Given the description of an element on the screen output the (x, y) to click on. 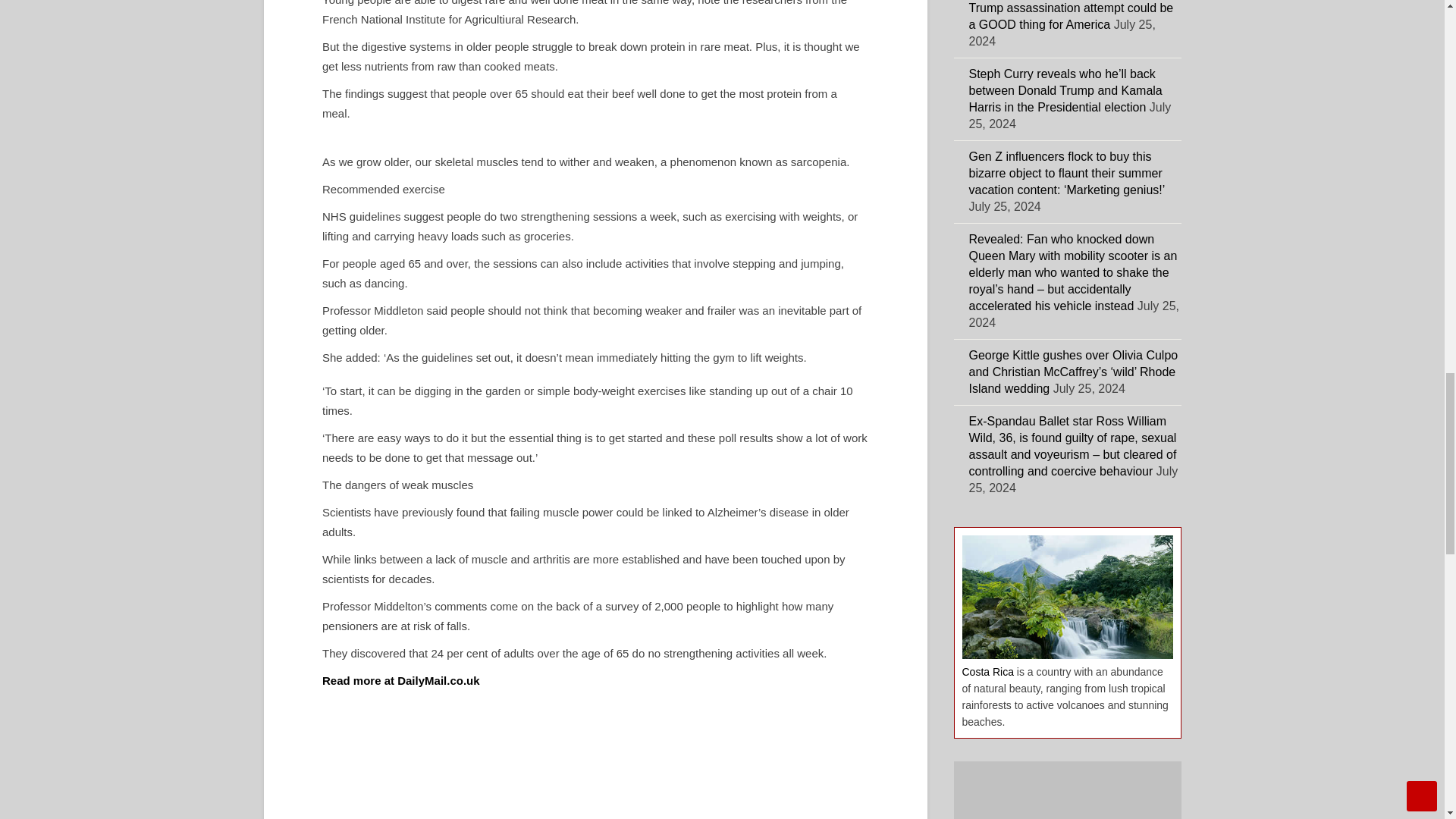
Costa Rica (986, 671)
Read more at DailyMail.co.uk (400, 680)
